Given the description of an element on the screen output the (x, y) to click on. 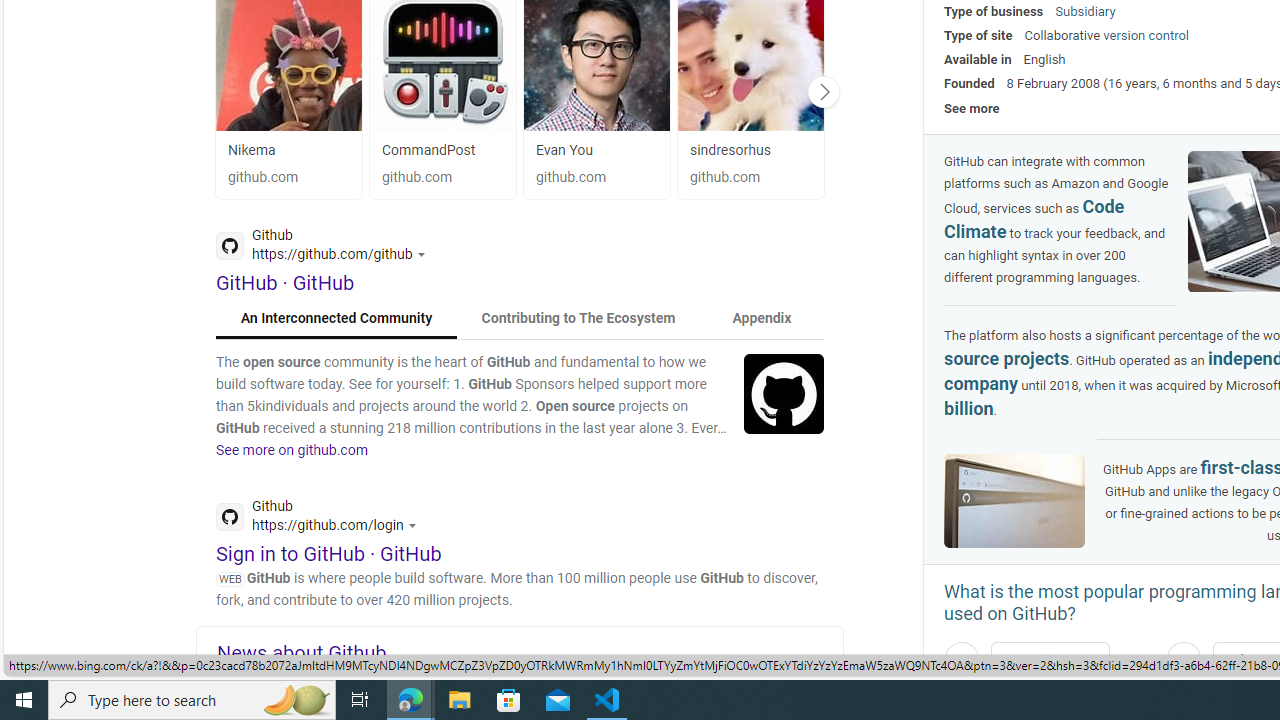
Nikema (251, 150)
sindresorhus (729, 150)
CommandPost (442, 150)
News about Github (530, 651)
bing.com/news (530, 674)
Github (321, 518)
A JavaScript (1049, 659)
See more on github.com (292, 449)
Type of site (978, 35)
Available in (978, 58)
Appendix (761, 318)
